Given the description of an element on the screen output the (x, y) to click on. 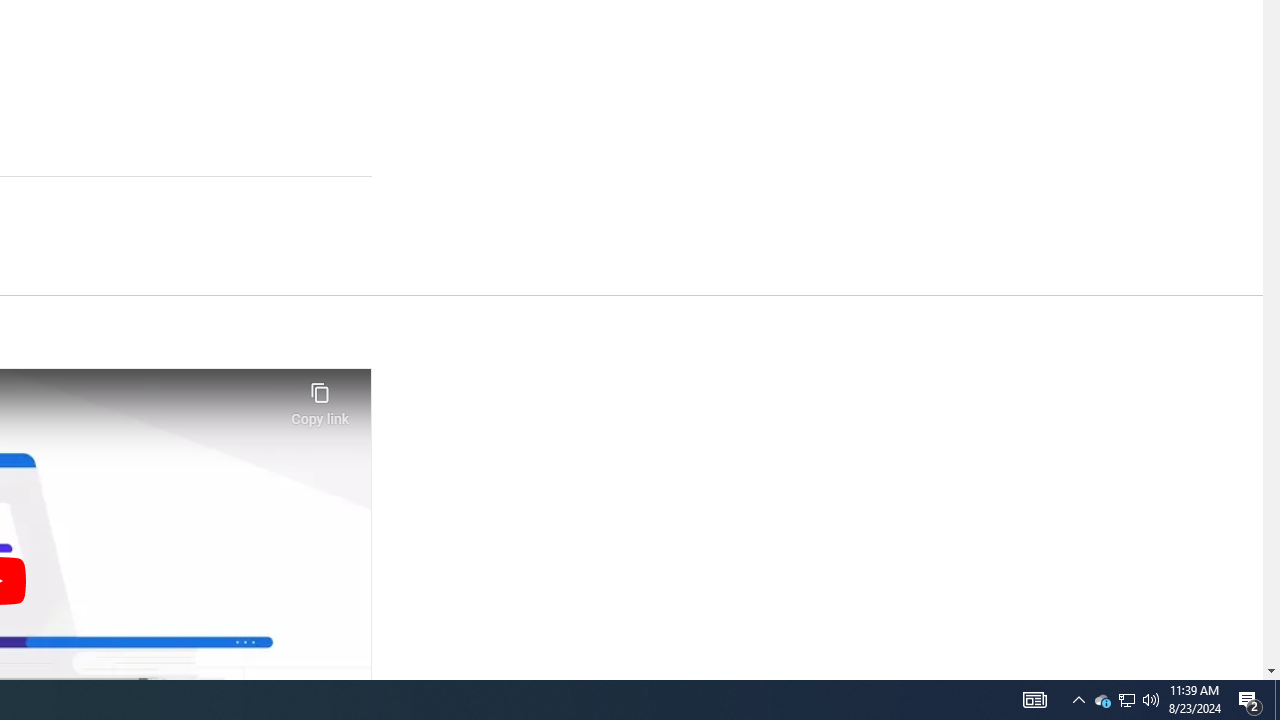
Copy link (319, 398)
